Given the description of an element on the screen output the (x, y) to click on. 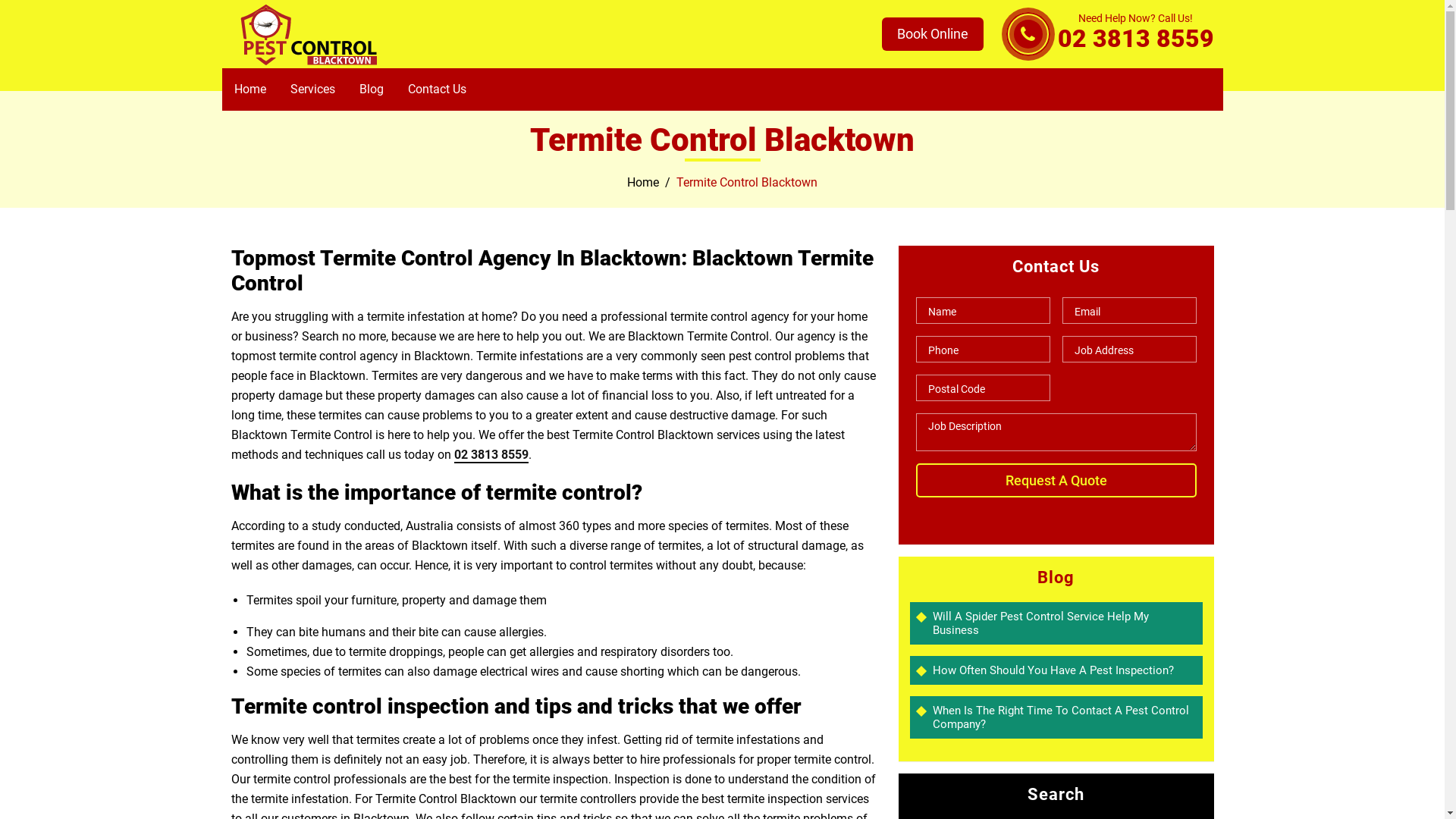
Home Element type: text (642, 182)
02 3813 8559 Element type: text (490, 455)
Contact Us Element type: text (435, 89)
Blog Element type: text (370, 89)
Will A Spider Pest Control Service Help My Business Element type: text (1063, 623)
Home Element type: text (249, 89)
Book Online Element type: text (931, 33)
Request A Quote Element type: text (1056, 480)
Services Element type: text (312, 89)
Need Help Now? Call Us!
02 3813 8559 Element type: text (1135, 33)
When Is The Right Time To Contact A Pest Control Company? Element type: text (1063, 717)
How Often Should You Have A Pest Inspection? Element type: text (1063, 670)
